Given the description of an element on the screen output the (x, y) to click on. 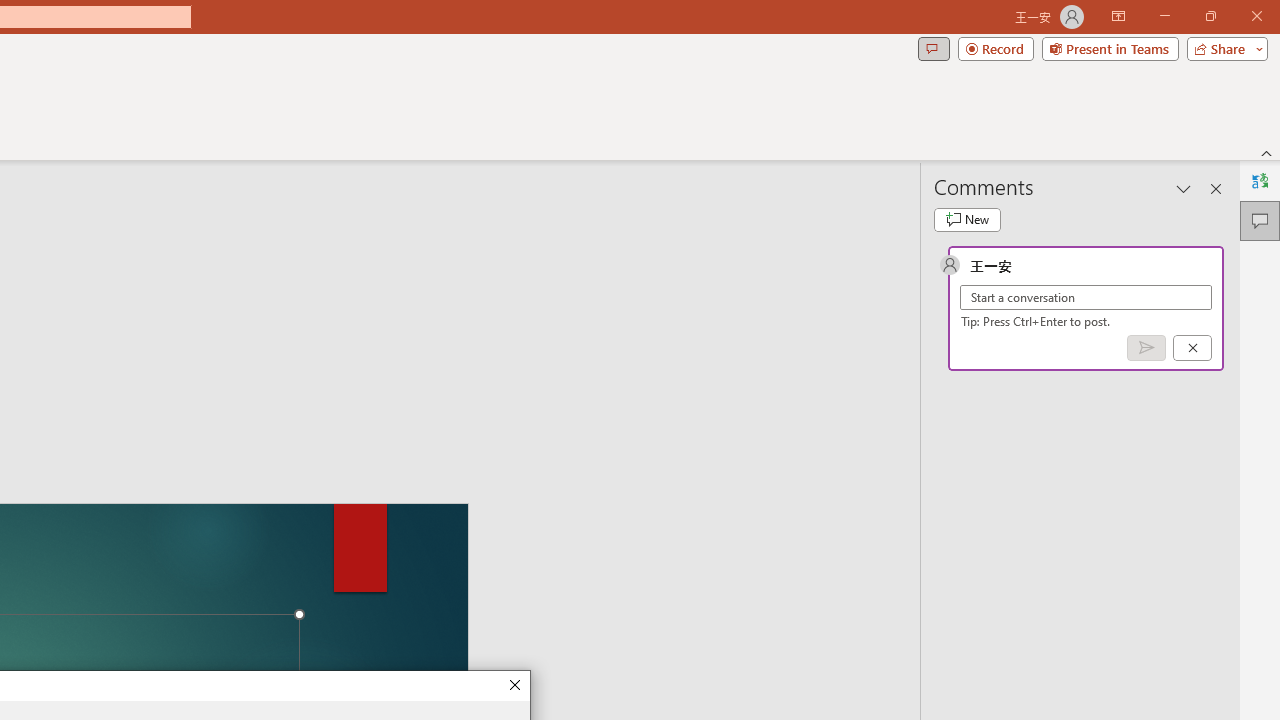
New comment (967, 219)
Start a conversation (1085, 297)
Post comment (Ctrl + Enter) (1146, 347)
